Given the description of an element on the screen output the (x, y) to click on. 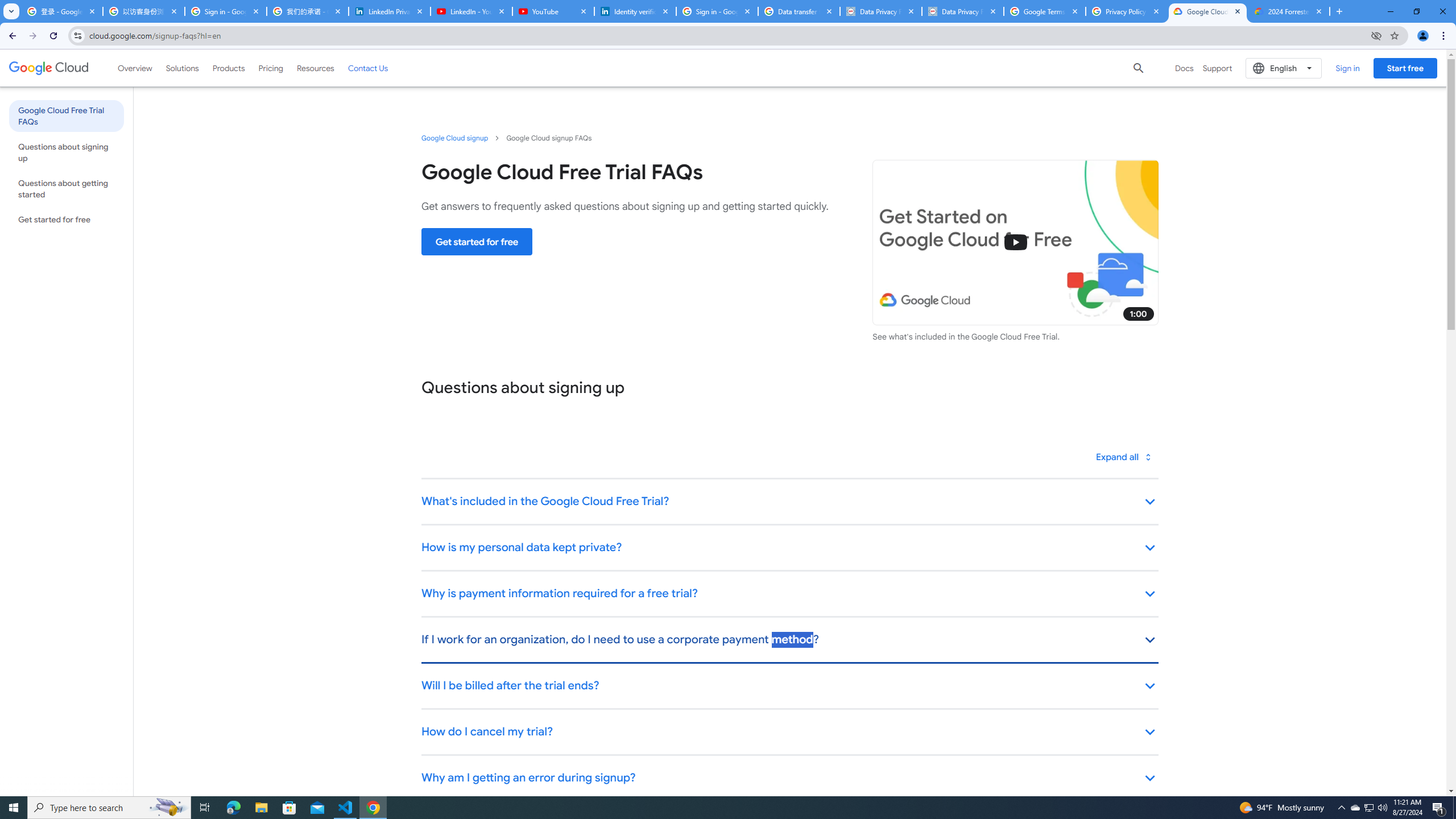
Google Cloud Free Trial FAQs (65, 115)
